Given the description of an element on the screen output the (x, y) to click on. 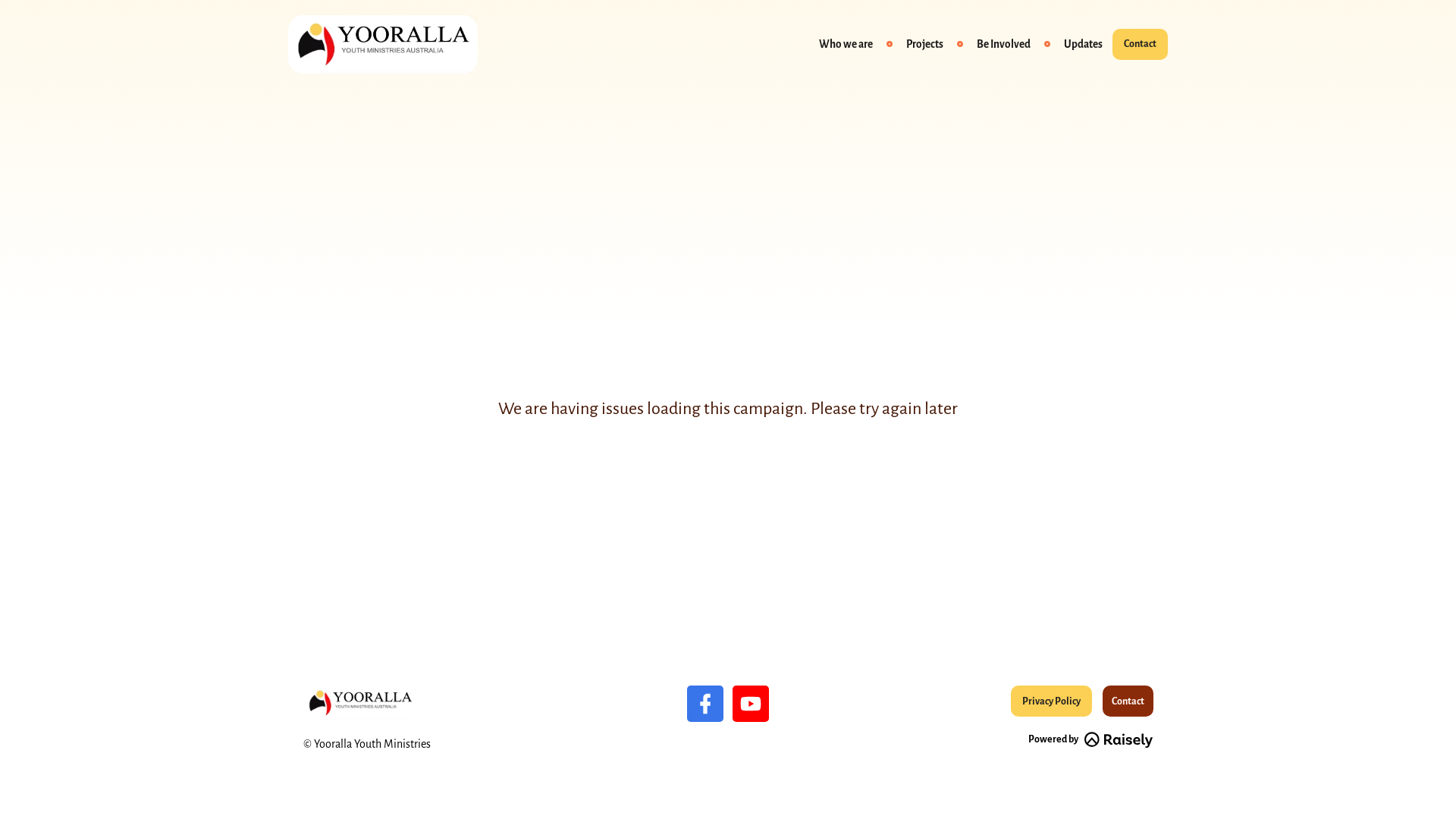
Privacy Policy Element type: text (1051, 700)
Be Involved Element type: text (1003, 44)
Find us on YouTube Element type: hover (750, 703)
Updates Element type: text (1082, 44)
Who we are Element type: text (845, 44)
Contact Element type: text (1139, 43)
Powered by Element type: text (1090, 739)
Projects Element type: text (924, 44)
Contact Element type: text (1127, 700)
Visit our facebook page Element type: hover (705, 703)
